Given the description of an element on the screen output the (x, y) to click on. 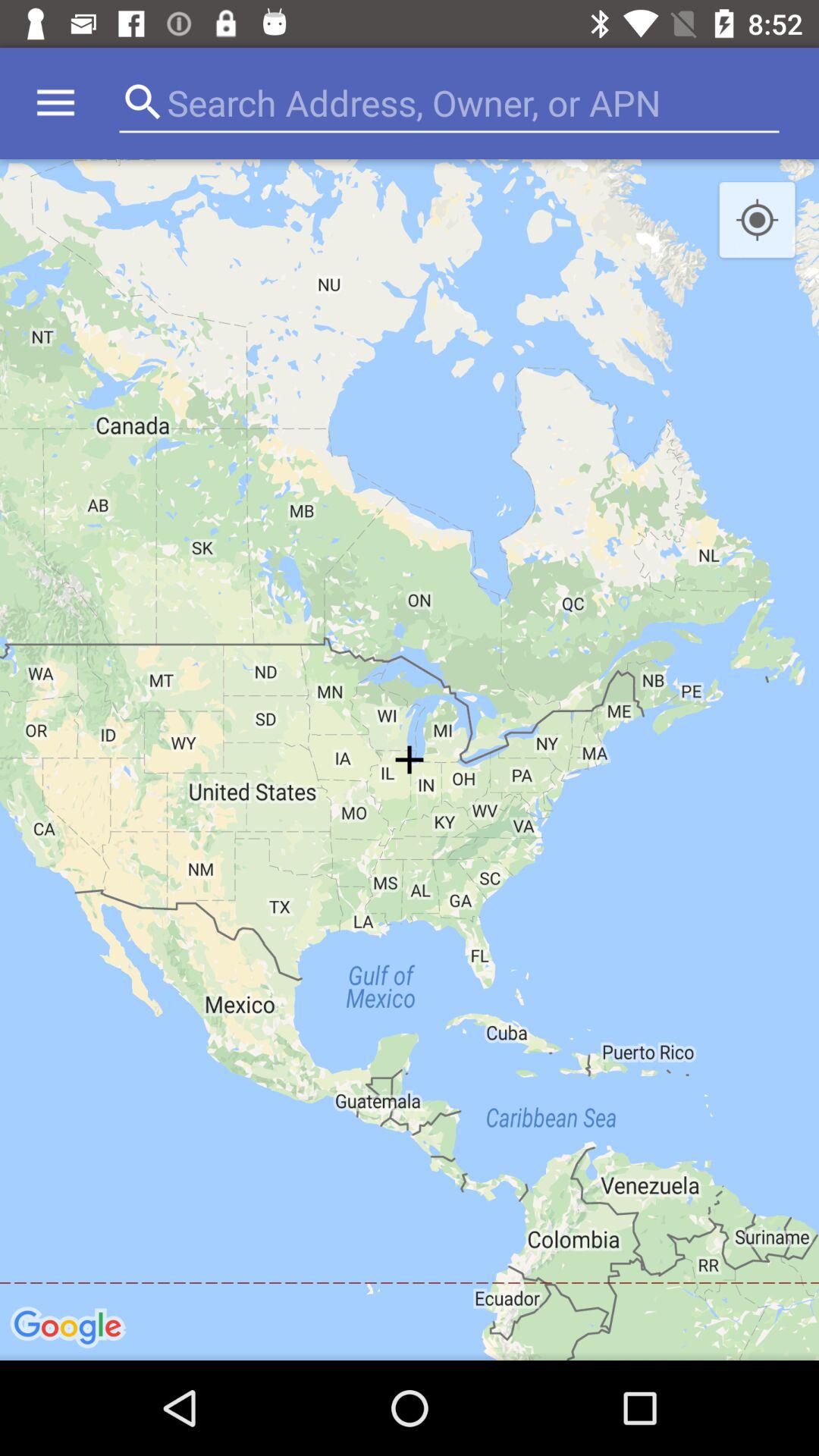
choose the item at the top (445, 103)
